Given the description of an element on the screen output the (x, y) to click on. 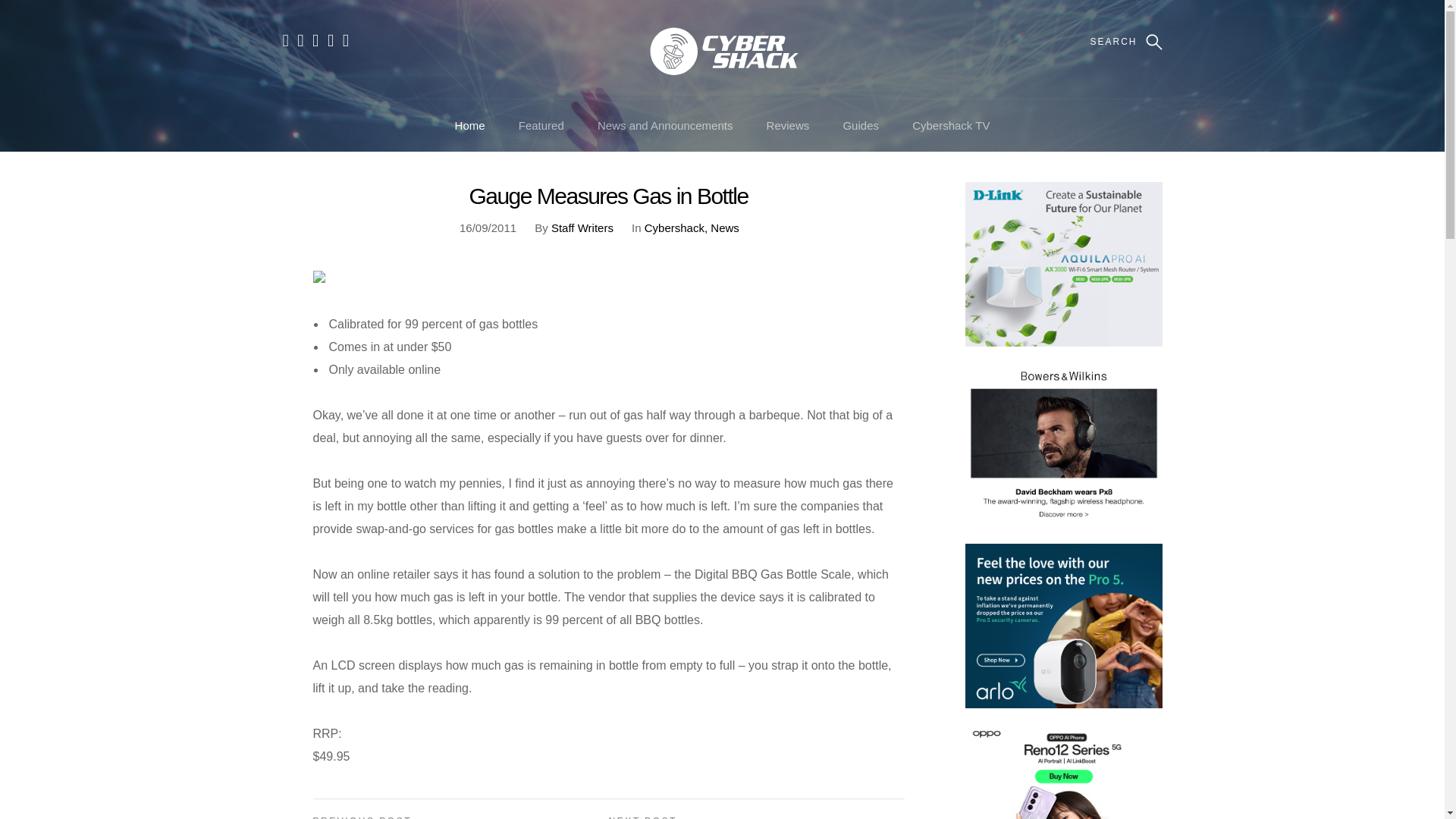
Cybershack (676, 227)
Search (50, 20)
Posts by Staff Writers (581, 227)
News and Announcements (664, 125)
Staff Writers (581, 227)
Cybershack TV (951, 125)
News (724, 227)
Home (469, 125)
Reviews (788, 125)
Featured (541, 125)
Guides (861, 125)
